Given the description of an element on the screen output the (x, y) to click on. 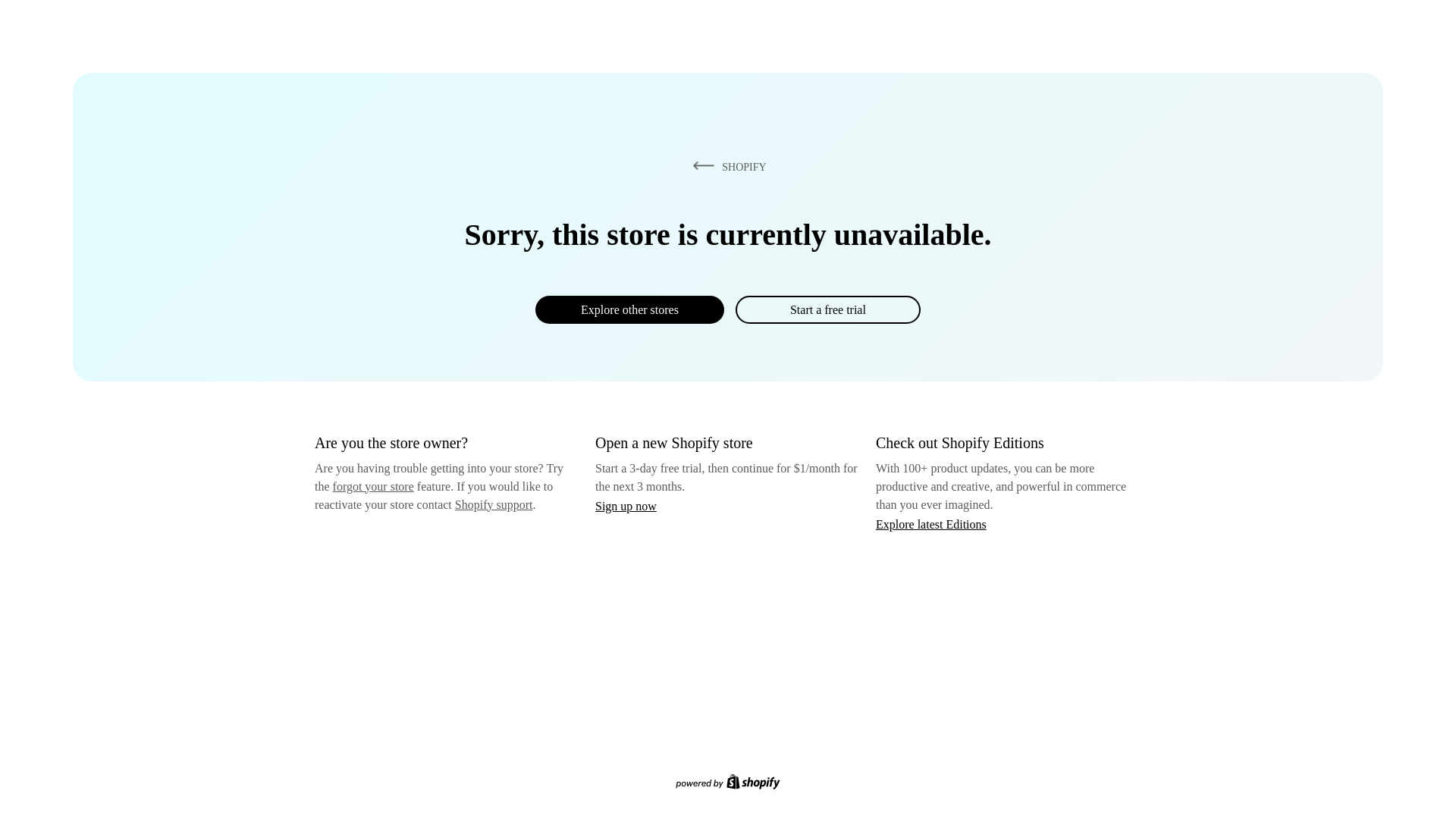
Explore latest Editions (931, 523)
forgot your store (373, 486)
Shopify support (493, 504)
Sign up now (625, 505)
Explore other stores (629, 309)
Start a free trial (827, 309)
SHOPIFY (726, 166)
